Given the description of an element on the screen output the (x, y) to click on. 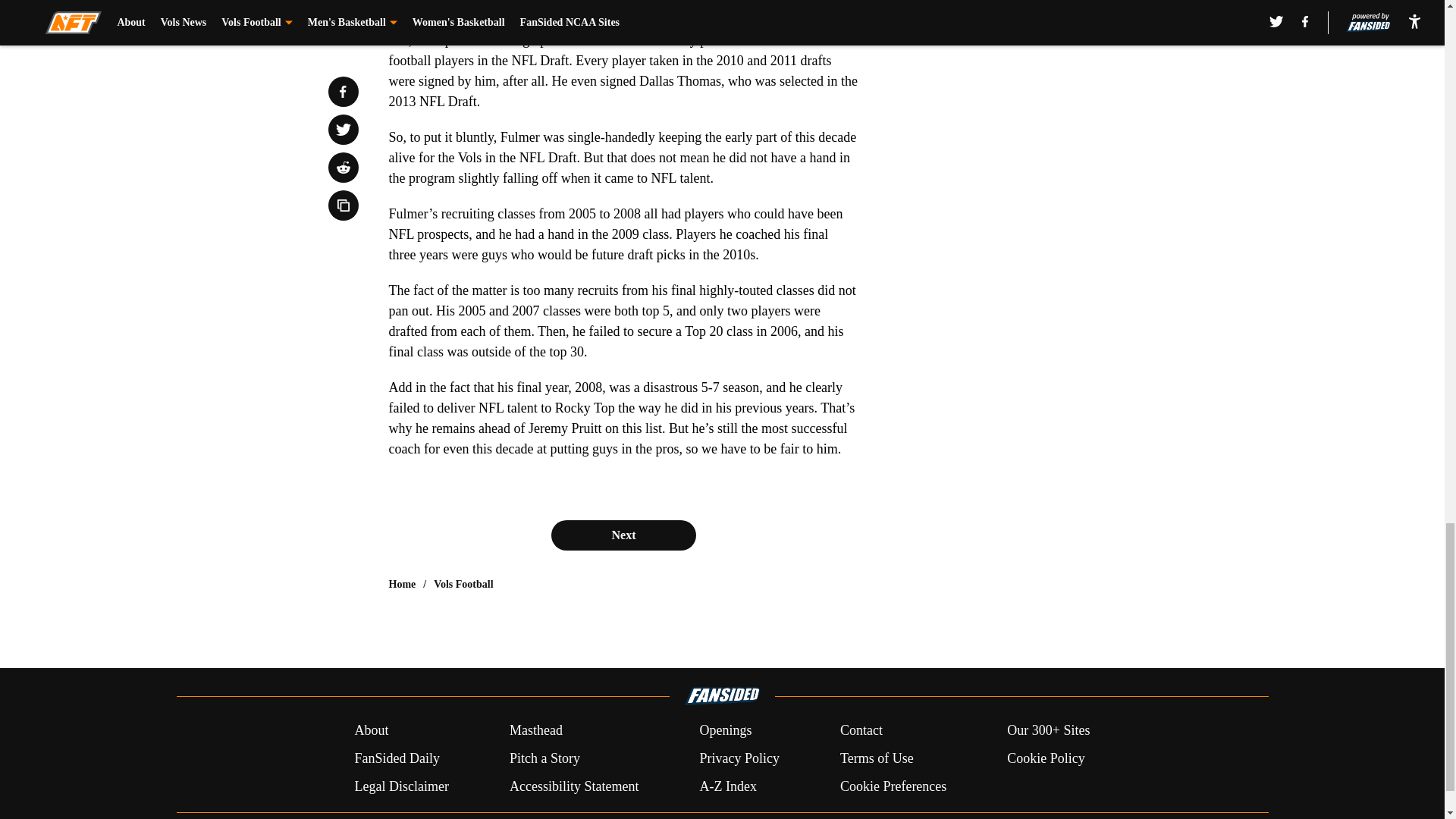
Privacy Policy (738, 758)
Next (622, 535)
Home (401, 584)
Masthead (535, 730)
Openings (724, 730)
Pitch a Story (544, 758)
Vols Football (463, 584)
FanSided Daily (396, 758)
Contact (861, 730)
About (370, 730)
